Given the description of an element on the screen output the (x, y) to click on. 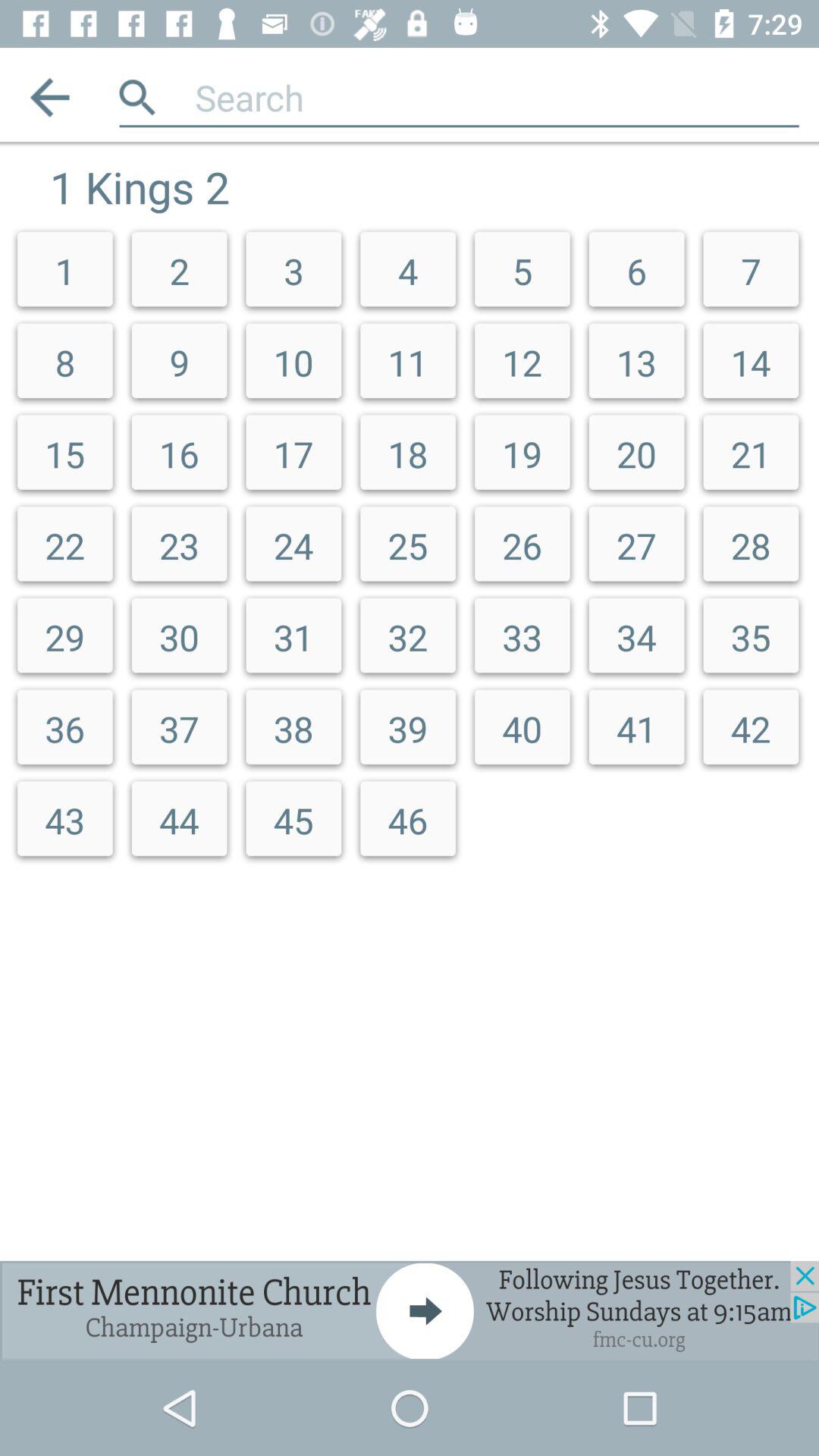
go to previous (49, 97)
